Given the description of an element on the screen output the (x, y) to click on. 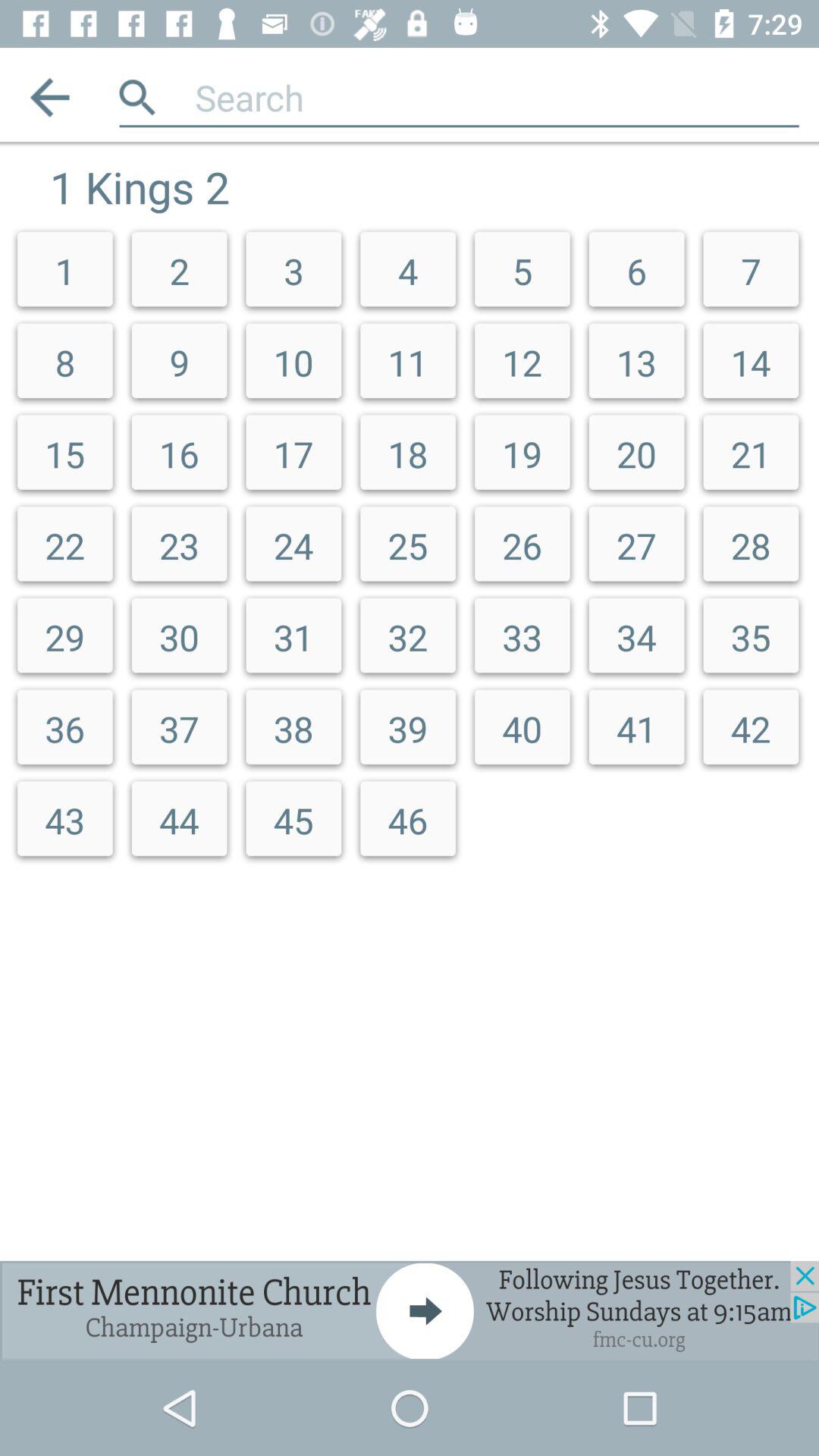
go to previous (49, 97)
